Given the description of an element on the screen output the (x, y) to click on. 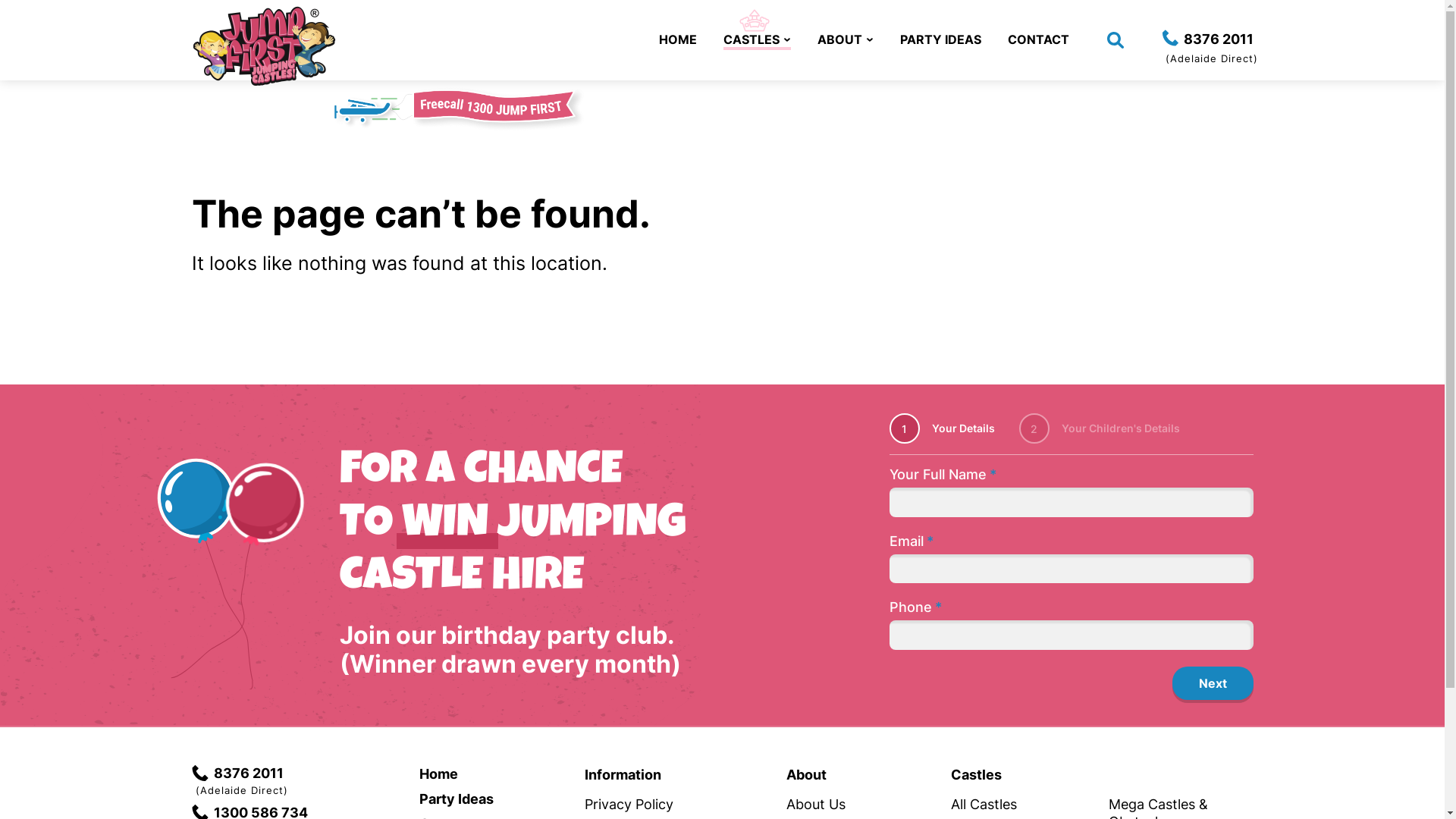
CASTLES Element type: text (756, 40)
8376 2011 Element type: text (1207, 38)
HOME Element type: text (677, 39)
CONTACT Element type: text (1037, 39)
All Castles Element type: text (983, 803)
Party Ideas Element type: text (455, 798)
8376 2011 Element type: text (236, 773)
Home Element type: text (437, 773)
Privacy Policy Element type: text (628, 803)
ABOUT Element type: text (845, 39)
PARTY IDEAS Element type: text (939, 39)
Next Element type: text (1212, 682)
About Us Element type: text (815, 803)
